Given the description of an element on the screen output the (x, y) to click on. 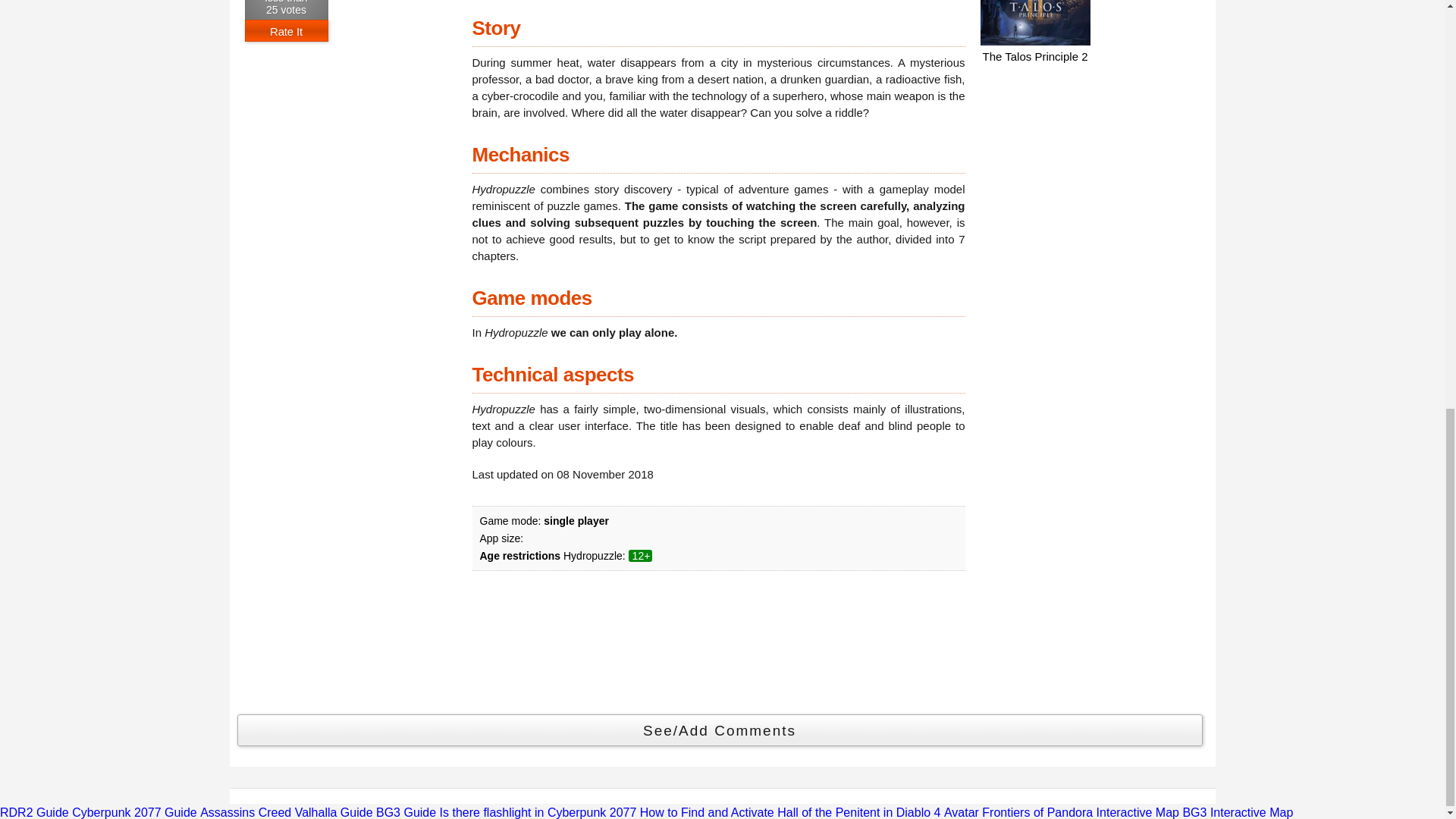
3rd party ad content (1093, 167)
